Given the description of an element on the screen output the (x, y) to click on. 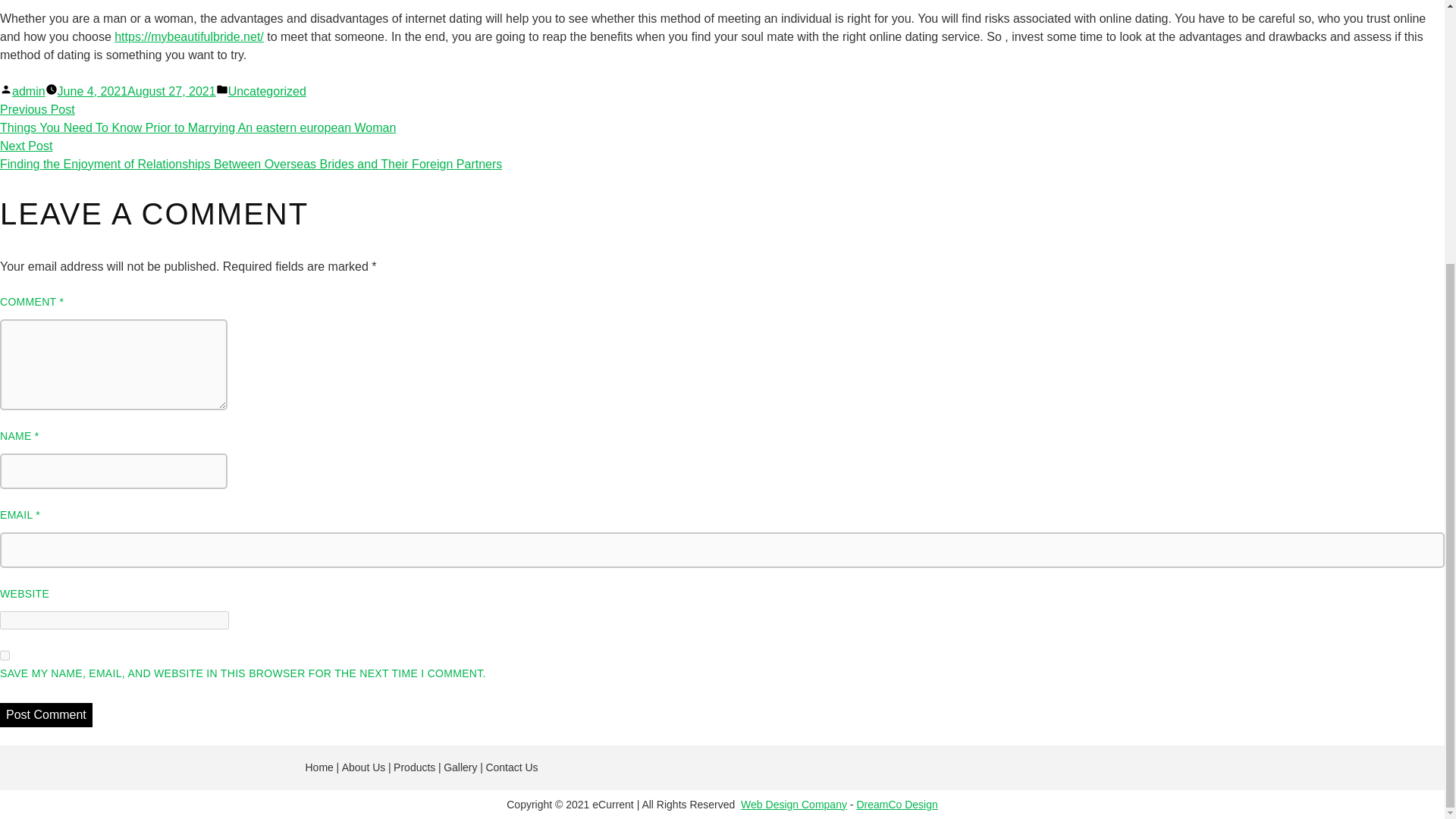
Uncategorized (266, 91)
June 4, 2021August 27, 2021 (136, 91)
Post Comment (46, 713)
Web Design Company (794, 803)
Contact Us (510, 767)
yes (5, 655)
Gallery (460, 767)
admin (28, 91)
Products (414, 767)
About Us (363, 767)
professional web design company (896, 803)
DreamCo Design (896, 803)
Post Comment (46, 713)
